Given the description of an element on the screen output the (x, y) to click on. 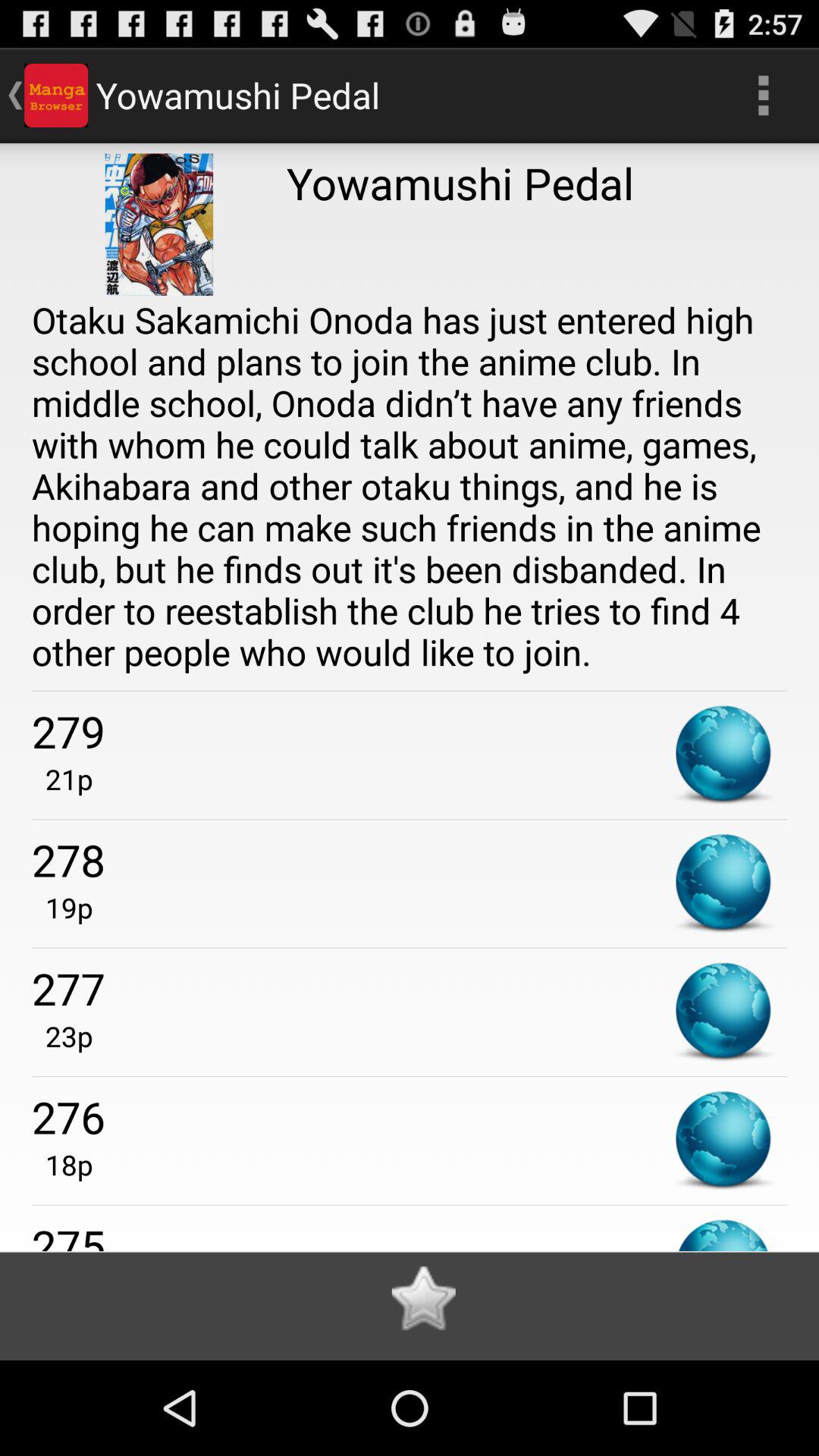
tap the 275 item (409, 1233)
